Given the description of an element on the screen output the (x, y) to click on. 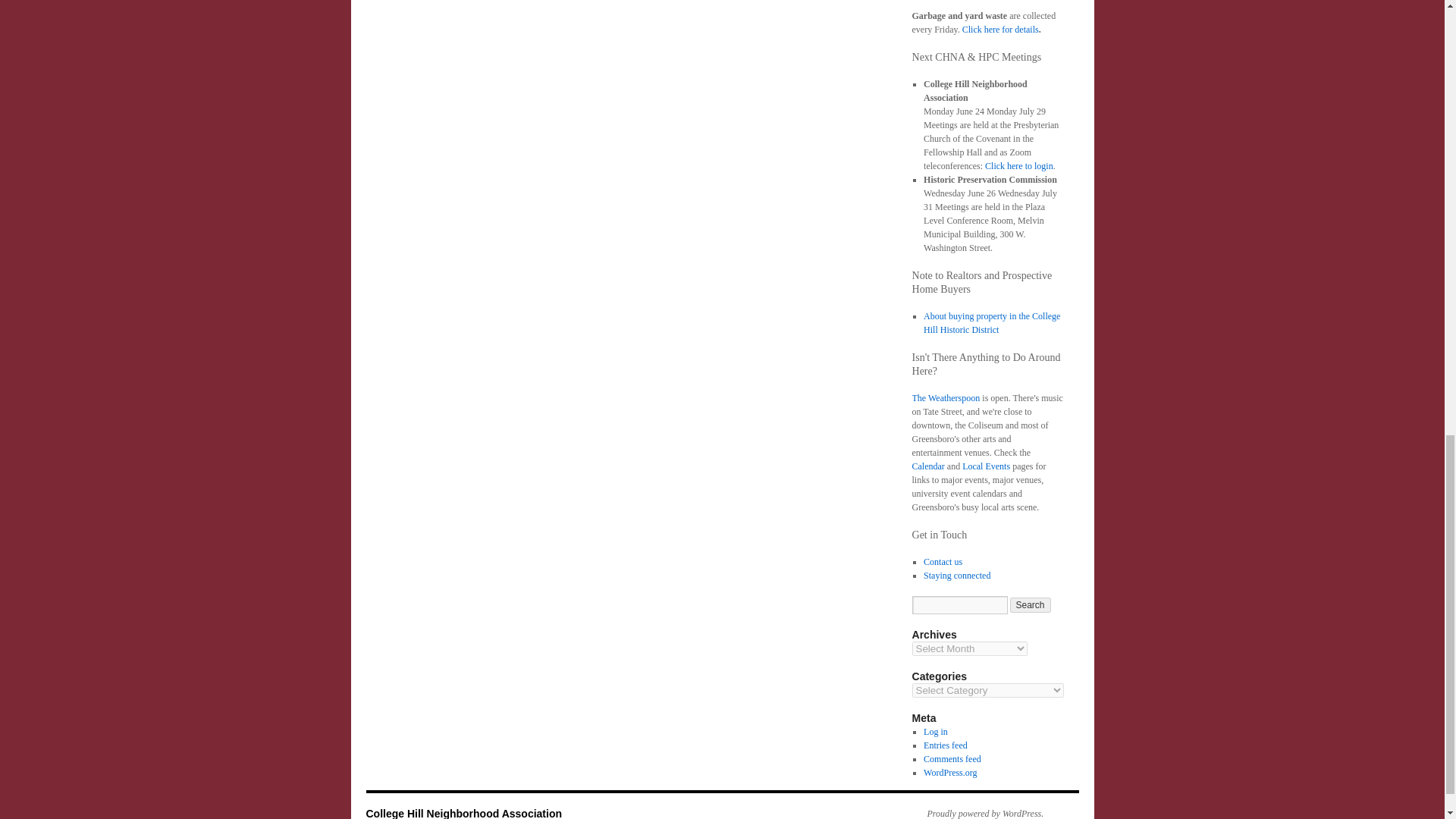
Search (1030, 604)
